Given the description of an element on the screen output the (x, y) to click on. 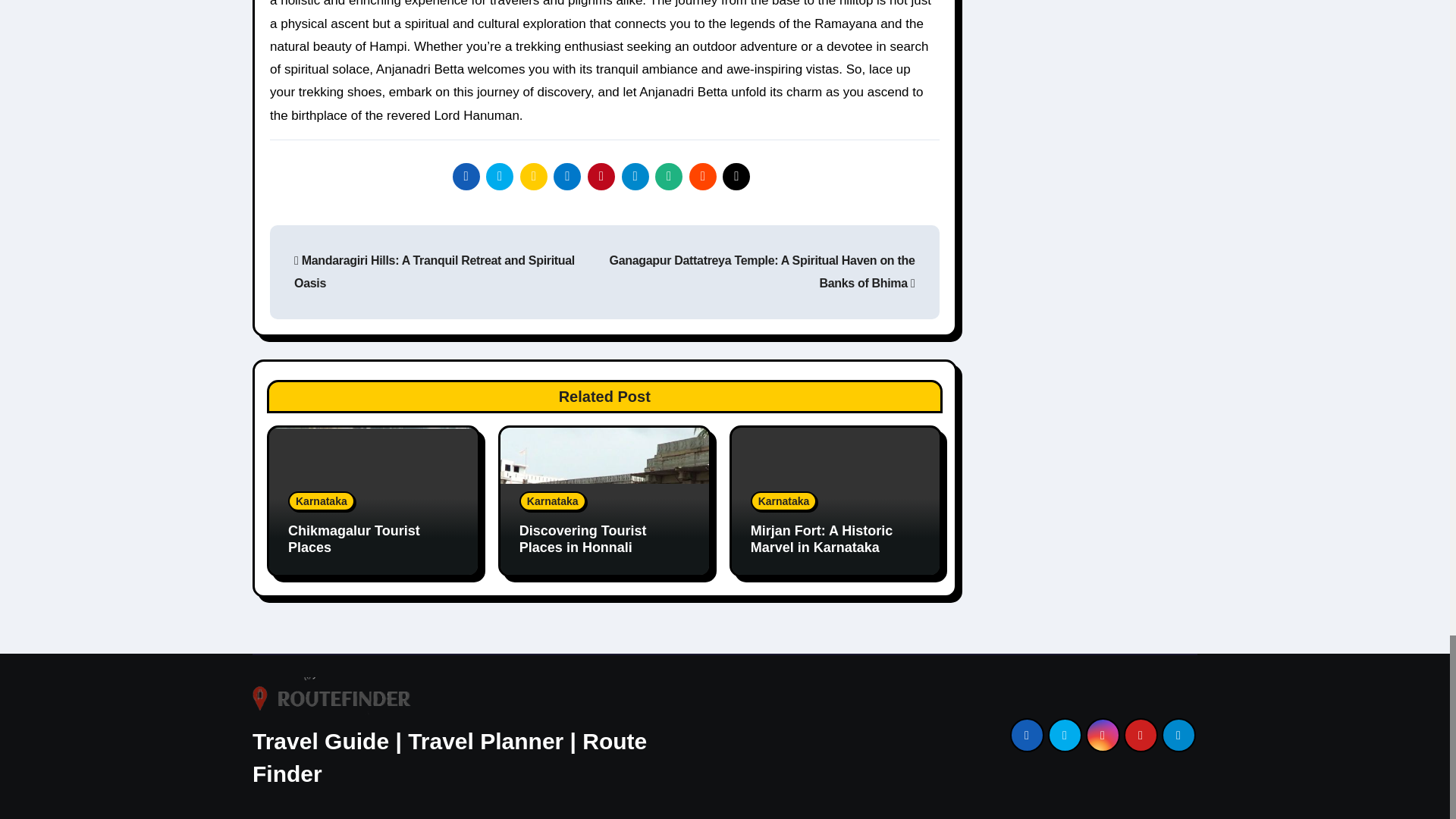
Discovering Tourist Places in Honnali (582, 539)
Chikmagalur Tourist Places (354, 539)
Permalink to: Discovering Tourist Places in Honnali (582, 539)
Mandaragiri Hills: A Tranquil Retreat and Spiritual Oasis (434, 271)
Permalink to: Chikmagalur Tourist Places (354, 539)
Permalink to: Mirjan Fort: A Historic Marvel in Karnataka (822, 539)
Karnataka (321, 501)
Karnataka (552, 501)
Karnataka (783, 501)
